Given the description of an element on the screen output the (x, y) to click on. 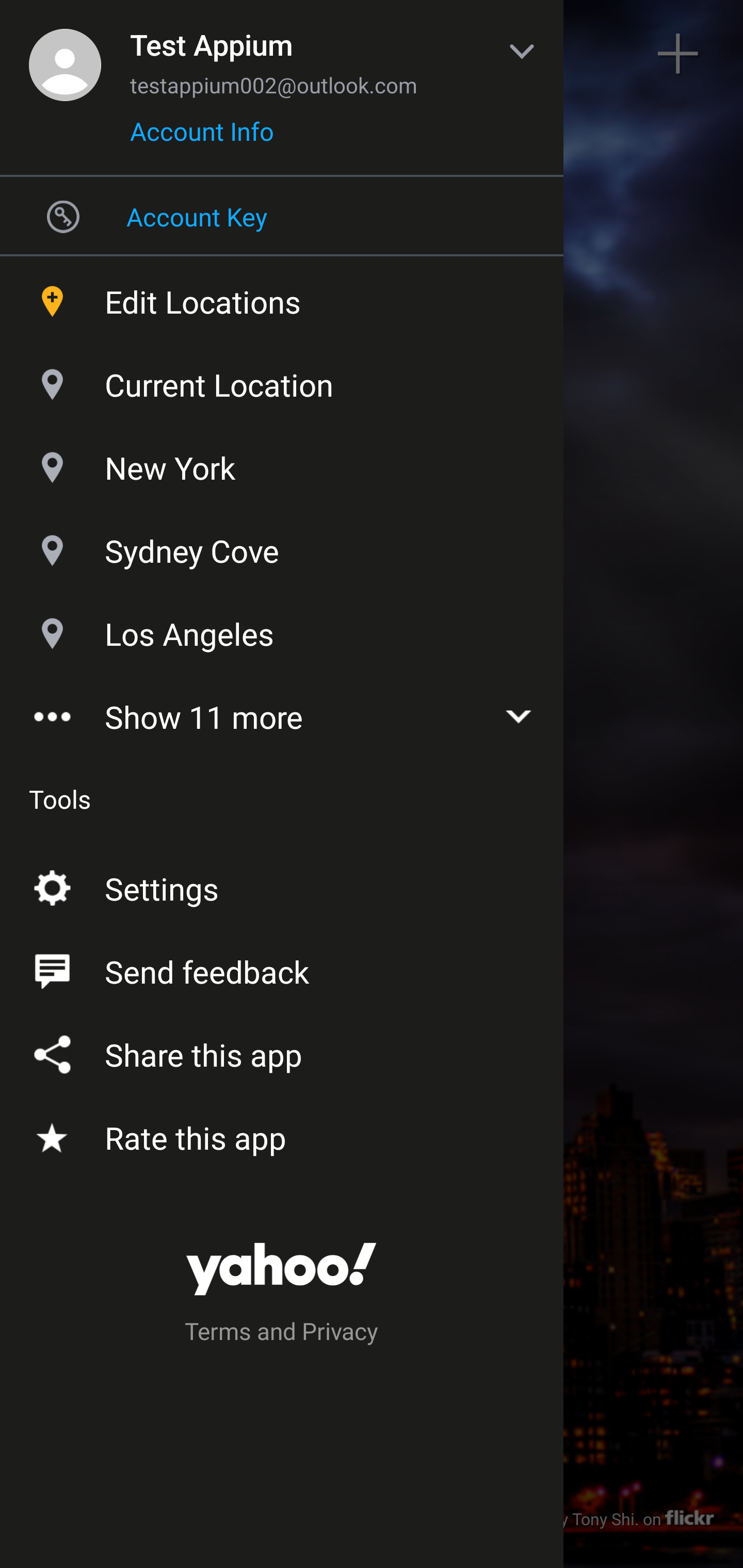
Sidebar (64, 54)
Account Info (202, 137)
Account Key (281, 216)
Edit Locations (281, 296)
Current Location (281, 379)
New York (281, 462)
Sydney Cove (281, 546)
Los Angeles (281, 629)
Settings (281, 884)
Send feedback (281, 967)
Share this app (281, 1050)
Terms and Privacy Terms and privacy button (281, 1334)
